Given the description of an element on the screen output the (x, y) to click on. 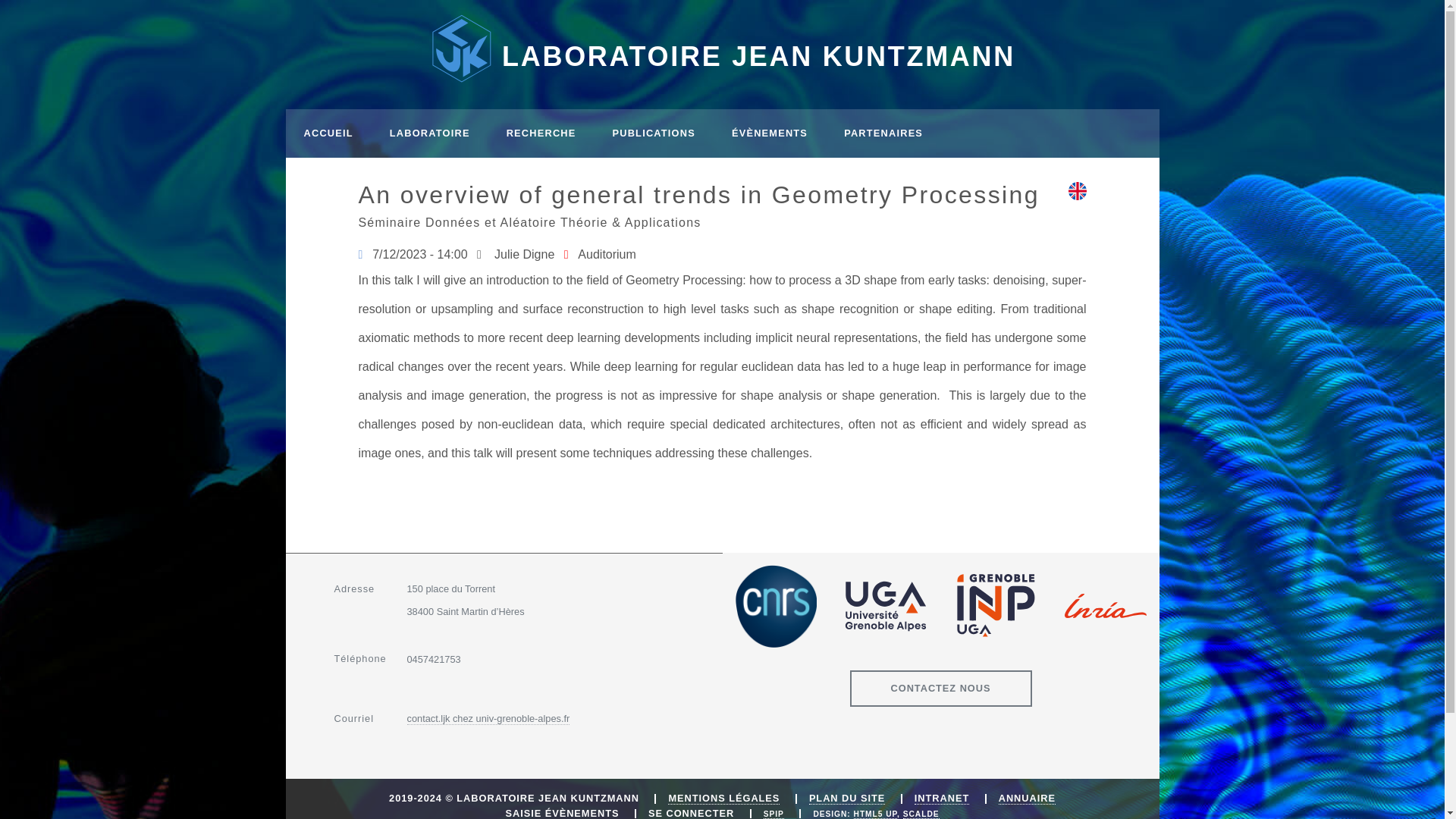
PARTENAIRES (882, 133)
PLAN DU SITE (847, 798)
INRIA (1105, 605)
LABORATOIRE JEAN KUNTZMANN (721, 48)
contact.ljk chez univ-grenoble-alpes.fr (487, 718)
SE CONNECTER (690, 813)
INTRANET (941, 798)
RECHERCHE (540, 133)
ANNUAIRE (1026, 798)
LABORATOIRE (429, 133)
CONTACTEZ NOUS (939, 688)
Grenoble INP (995, 605)
CNRS (774, 606)
ACCUEIL (328, 133)
PUBLICATIONS (653, 133)
